Given the description of an element on the screen output the (x, y) to click on. 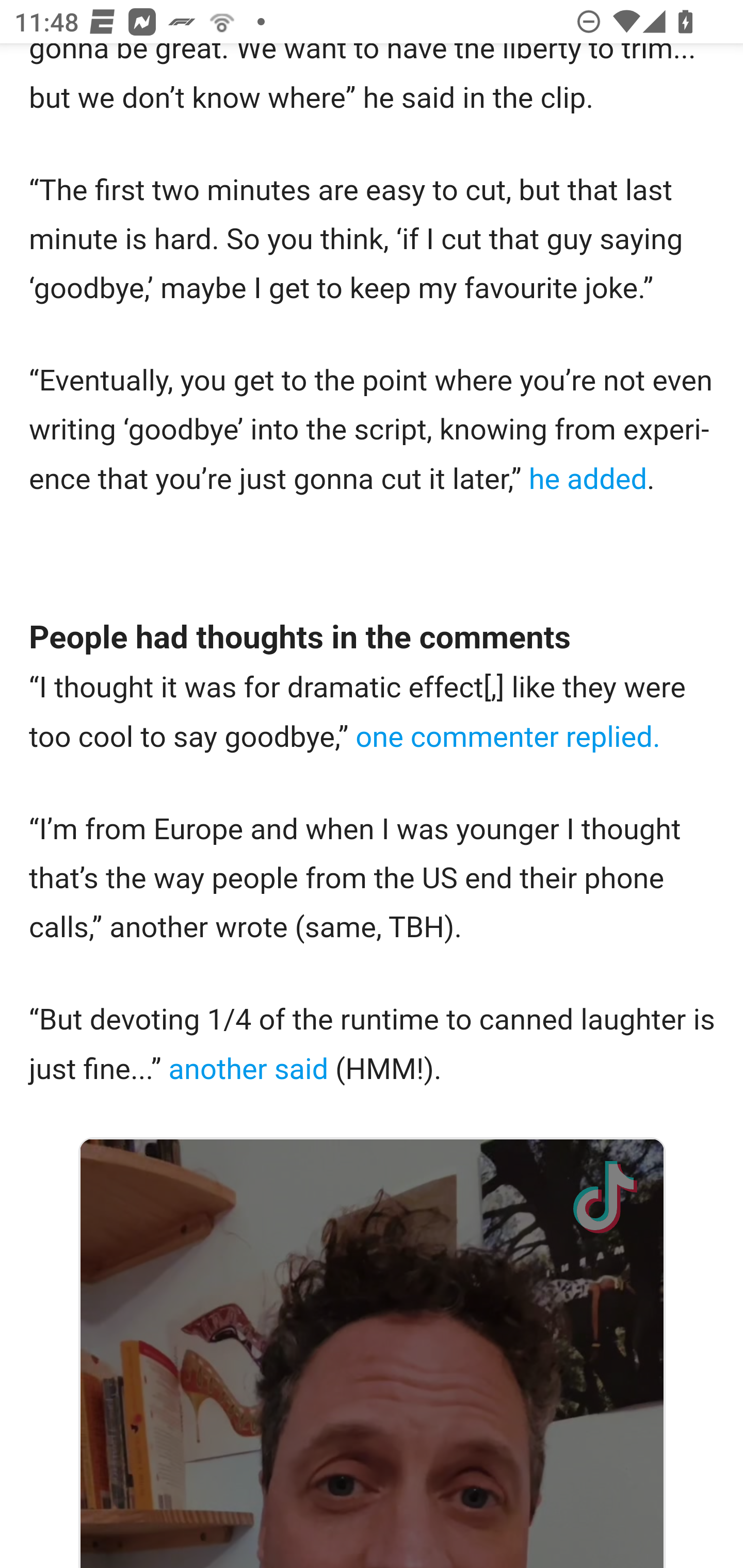
he added (587, 479)
one commenter replied. (507, 738)
another said  (252, 1070)
?referer_url=www.huffingtonpost.co (605, 1197)
